Given the description of an element on the screen output the (x, y) to click on. 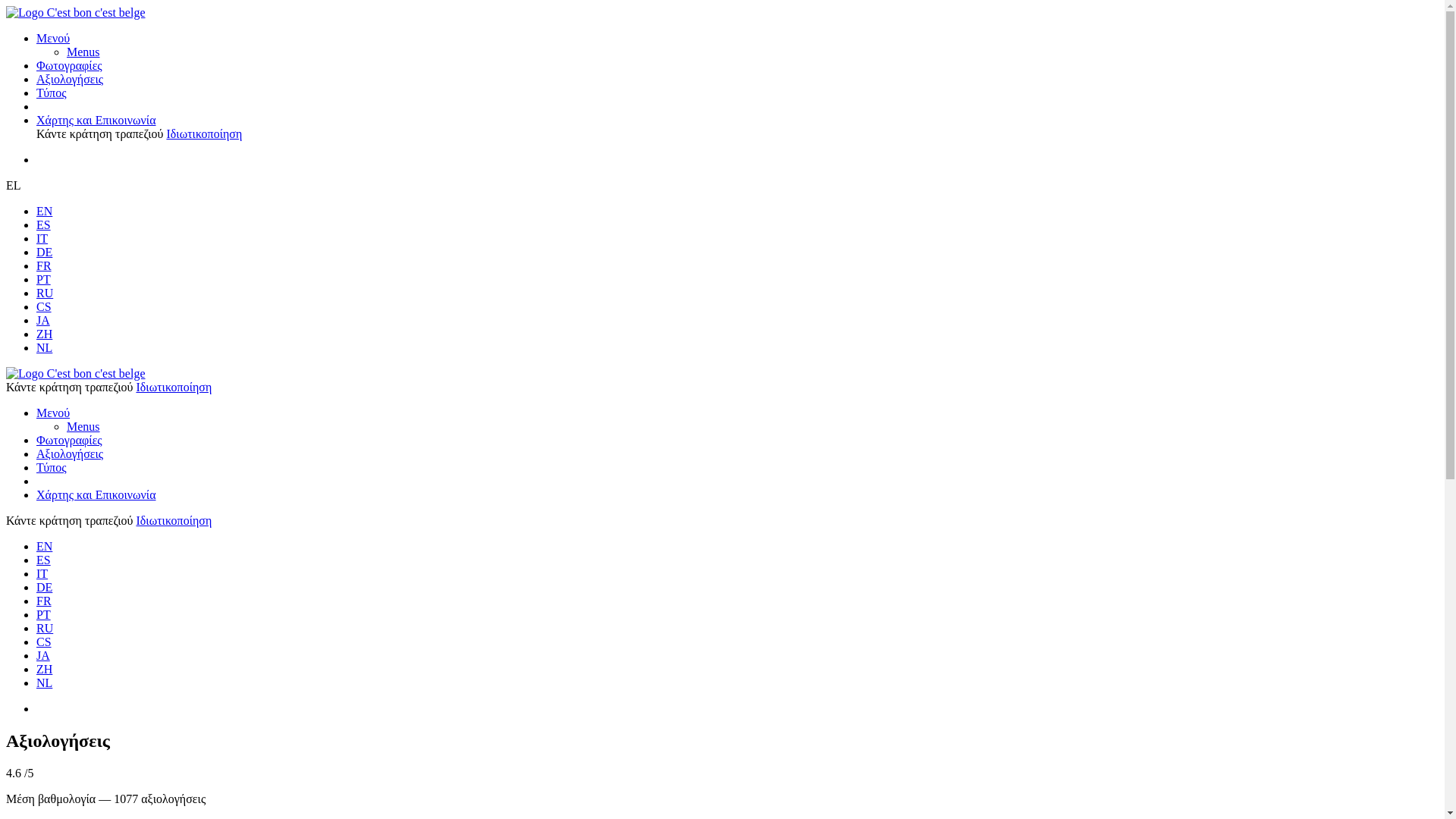
JA Element type: text (43, 319)
PT Element type: text (43, 279)
FR Element type: text (43, 600)
Menus Element type: text (83, 51)
RU Element type: text (44, 292)
Menus Element type: text (83, 426)
ES Element type: text (43, 224)
CS Element type: text (43, 306)
ZH Element type: text (44, 333)
CS Element type: text (43, 641)
NL Element type: text (44, 682)
PT Element type: text (43, 614)
ZH Element type: text (44, 668)
ES Element type: text (43, 559)
EN Element type: text (44, 210)
RU Element type: text (44, 627)
DE Element type: text (44, 586)
NL Element type: text (44, 347)
EN Element type: text (44, 545)
DE Element type: text (44, 251)
FR Element type: text (43, 265)
IT Element type: text (41, 573)
JA Element type: text (43, 655)
IT Element type: text (41, 238)
